Given the description of an element on the screen output the (x, y) to click on. 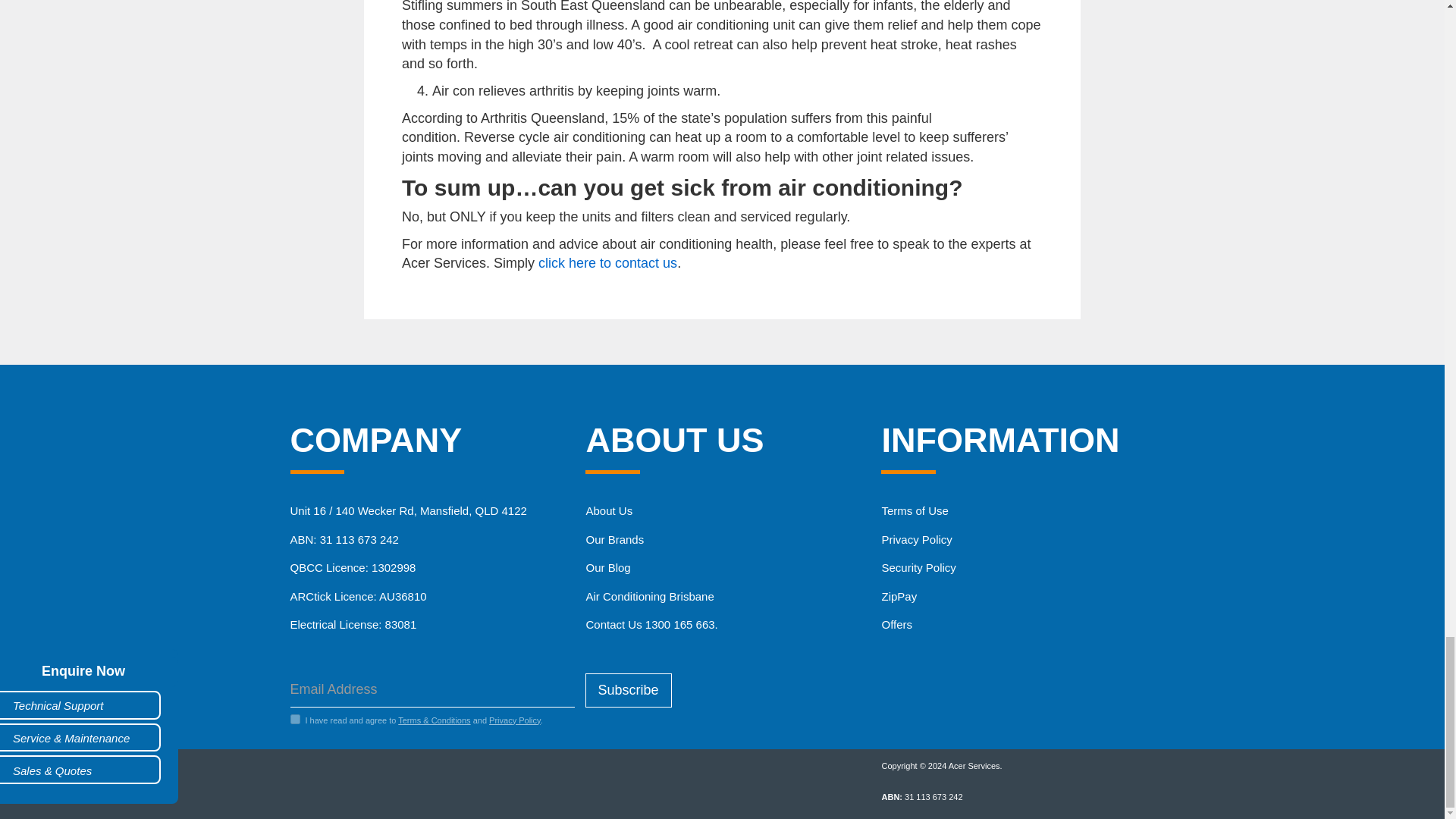
Subscribe (628, 690)
y (294, 718)
